Given the description of an element on the screen output the (x, y) to click on. 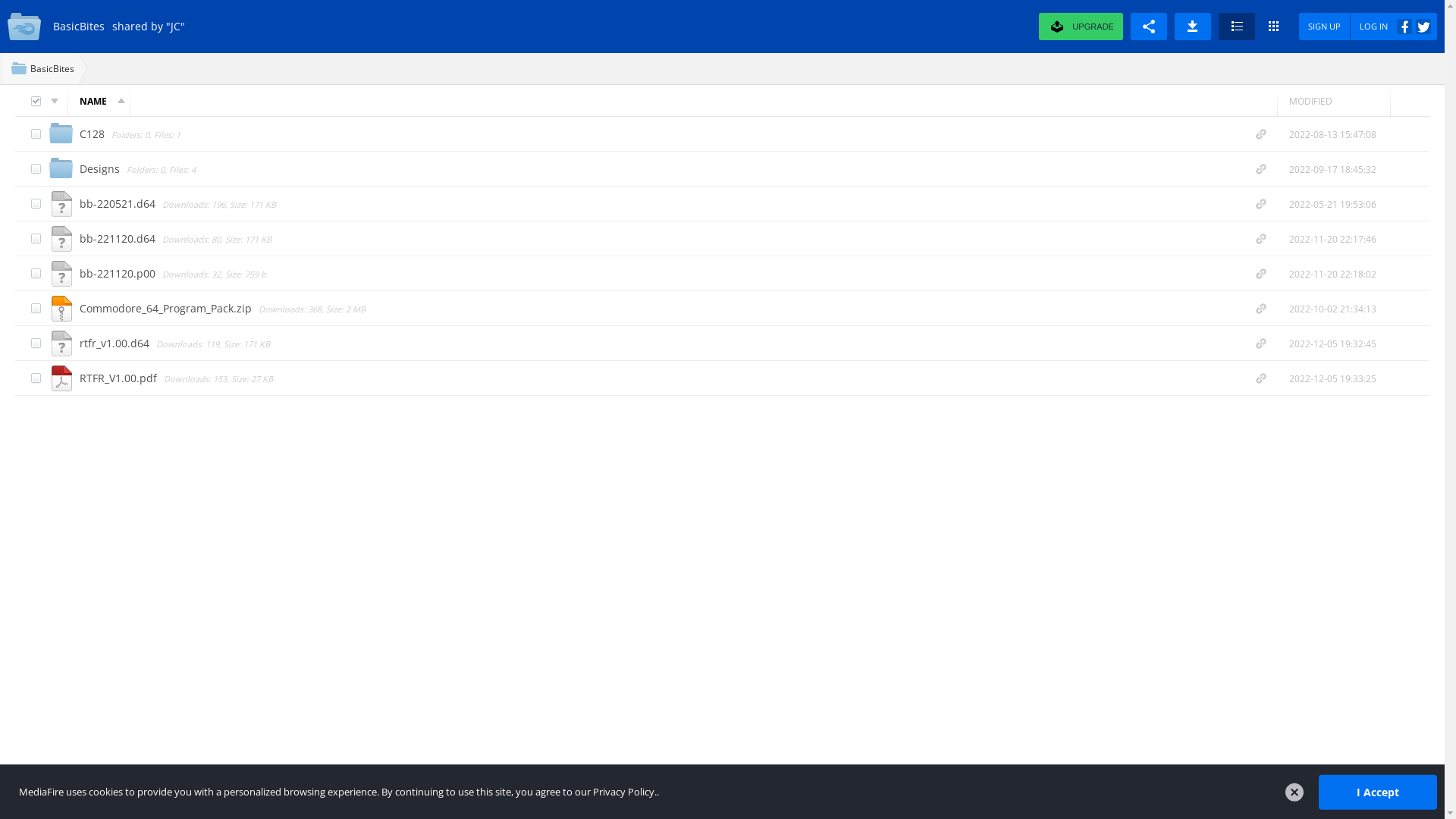
Upgrade Element type: hover (1067, 26)
Commodore_64_Program_Pack.zip Element type: text (166, 307)
Select/Deselect Item Element type: hover (35, 238)
Select/Deselect Item Element type: hover (35, 308)
Select/Deselect Item Element type: hover (35, 377)
I Accept Element type: text (1377, 791)
bb-221120.p00 Element type: text (118, 272)
Download folder Element type: hover (1192, 26)
Designs Element type: text (100, 167)
Dismiss Element type: text (1294, 792)
RTFR_V1.00.pdf Element type: text (119, 377)
Select/Deselect Item Element type: hover (35, 168)
LOG IN Element type: text (1393, 26)
NAME Element type: text (98, 100)
MediaFire Element type: hover (26, 26)
MODIFIED Element type: text (1333, 100)
bb-221120.d64 Element type: text (118, 237)
bb-220521.d64 Element type: text (118, 202)
Select/Deselect Item Element type: hover (35, 273)
Select/Deselect Item Element type: hover (35, 343)
Share folder Element type: hover (1148, 26)
Select/Deselect Item Element type: hover (35, 133)
C128 Element type: text (93, 132)
Select/Deselect Item Element type: hover (35, 203)
Grid view Element type: hover (1273, 26)
rtfr_v1.00.d64 Element type: text (115, 342)
SIGN UP Element type: text (1324, 26)
List view Element type: hover (1236, 26)
Click to select/deselect all Element type: hover (35, 101)
